Given the description of an element on the screen output the (x, y) to click on. 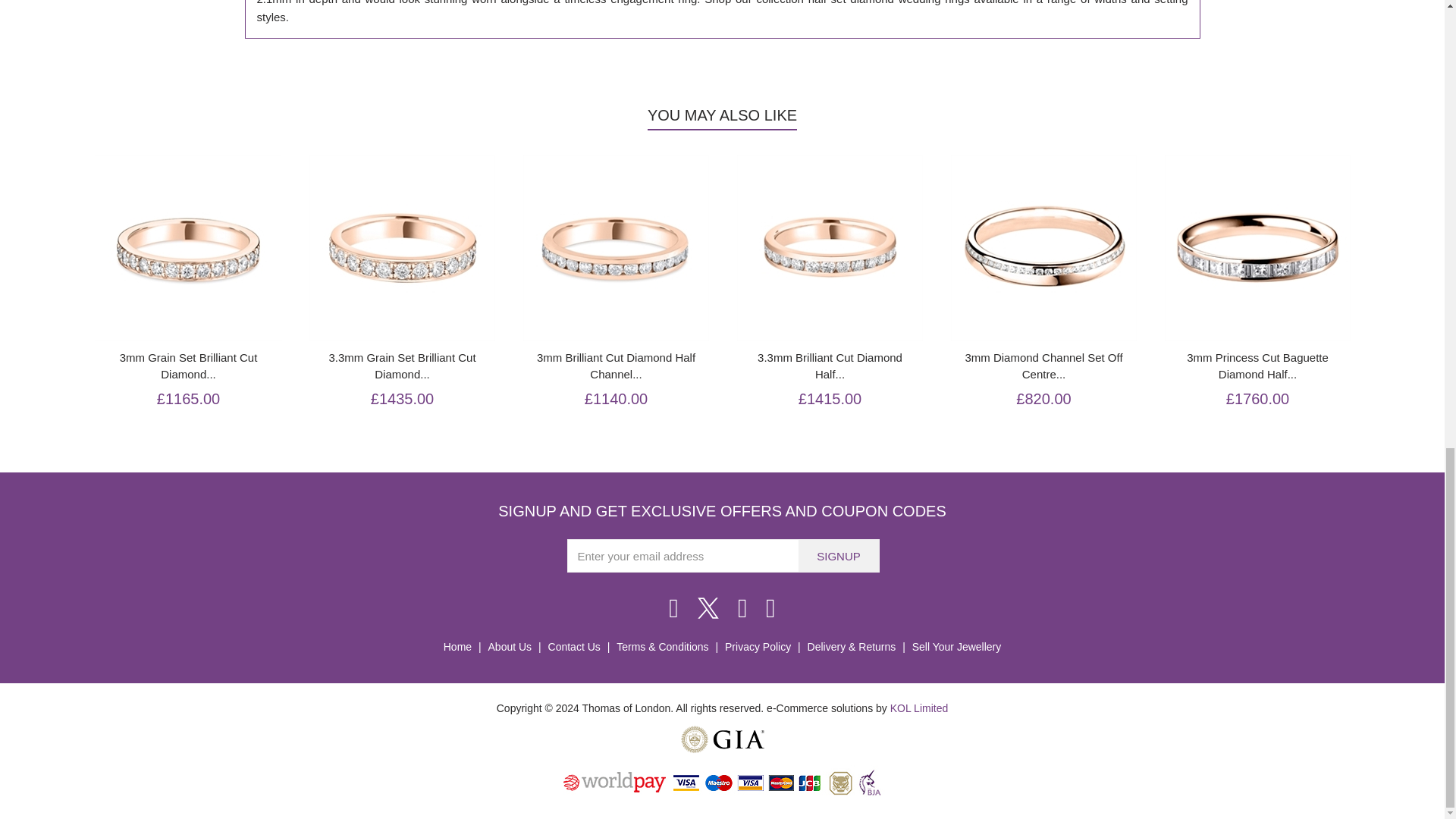
3mm Princess Cut Baguette Diamond Half... (1257, 366)
3mm Brilliant Cut Diamond Half Channel... (616, 366)
3mm Diamond Channel Set Off Centre... (1043, 366)
3mm Grain Set Brilliant Cut Diamond... (188, 366)
3.3mm Grain Set Brilliant Cut Diamond... (402, 366)
3.3mm Brilliant Cut Diamond Half... (829, 366)
signup (838, 555)
3mm Grain Set Brilliant Cut Diamond... (188, 366)
3mm Princess Cut Baguette Diamond Half... (1257, 366)
3.3mm Brilliant Cut Diamond Half... (829, 366)
3mm Brilliant Cut Diamond Half Channel... (616, 366)
3.3mm Grain Set Brilliant Cut Diamond... (402, 366)
3mm Diamond Channel Set Off Centre... (1043, 366)
